Given the description of an element on the screen output the (x, y) to click on. 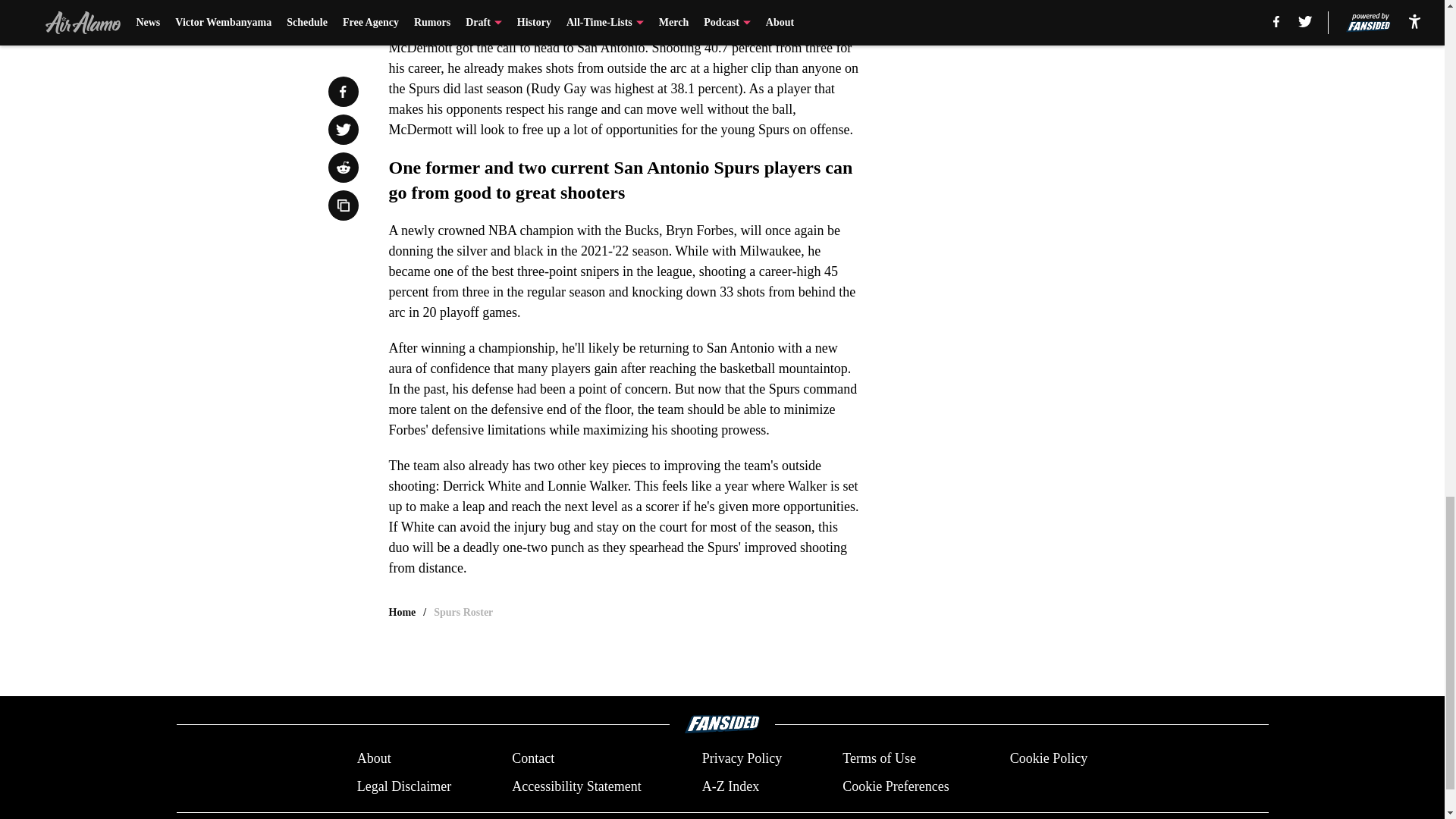
A-Z Index (729, 786)
Home (401, 612)
Legal Disclaimer (403, 786)
Accessibility Statement (576, 786)
Contact (533, 758)
Terms of Use (879, 758)
Cookie Policy (1048, 758)
About (373, 758)
Privacy Policy (742, 758)
